Given the description of an element on the screen output the (x, y) to click on. 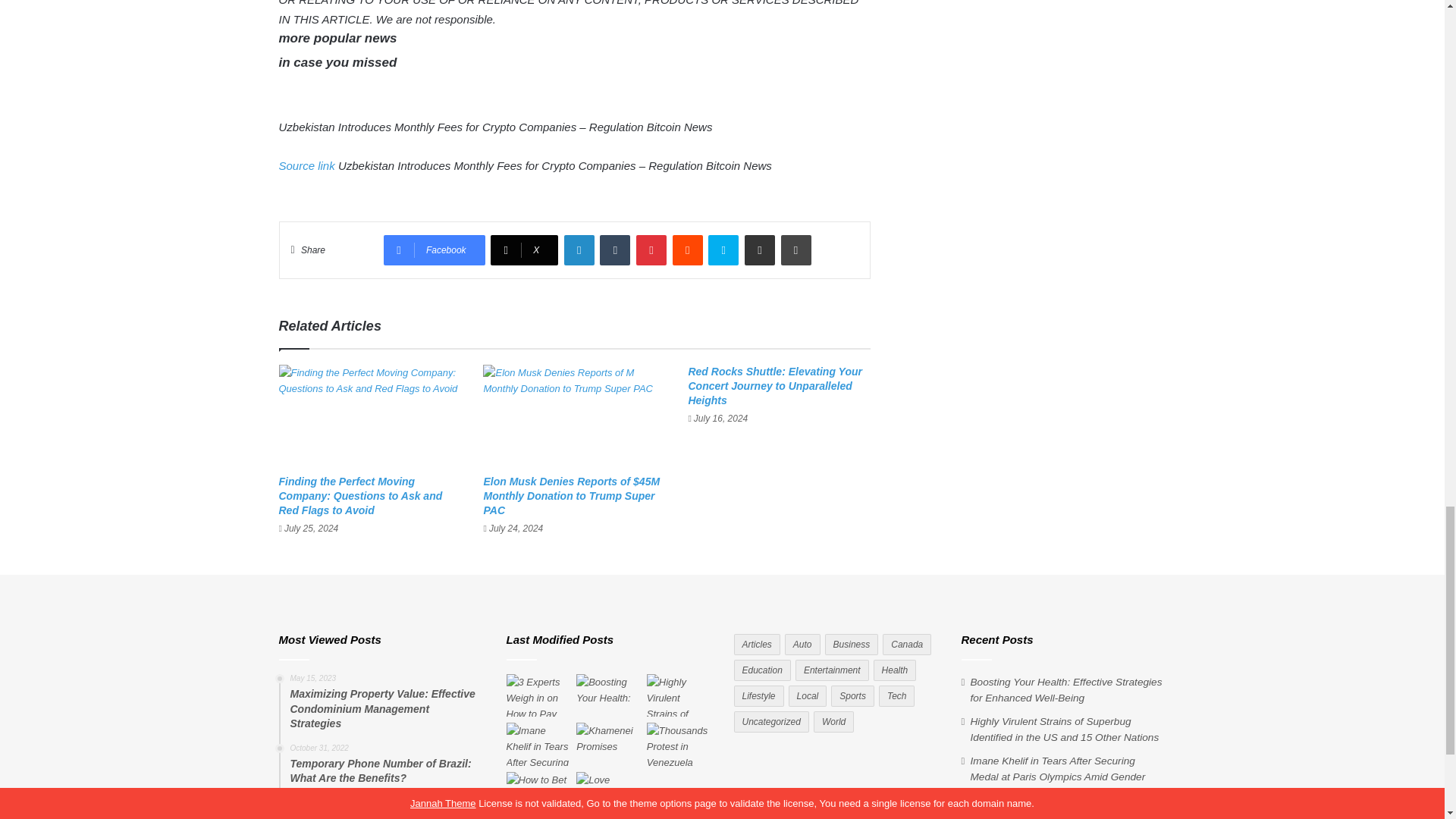
Tumblr (614, 250)
Reddit (687, 250)
Pinterest (651, 250)
Facebook (434, 250)
LinkedIn (579, 250)
LinkedIn (579, 250)
Skype (722, 250)
Pinterest (651, 250)
Skype (722, 250)
X (523, 250)
